Given the description of an element on the screen output the (x, y) to click on. 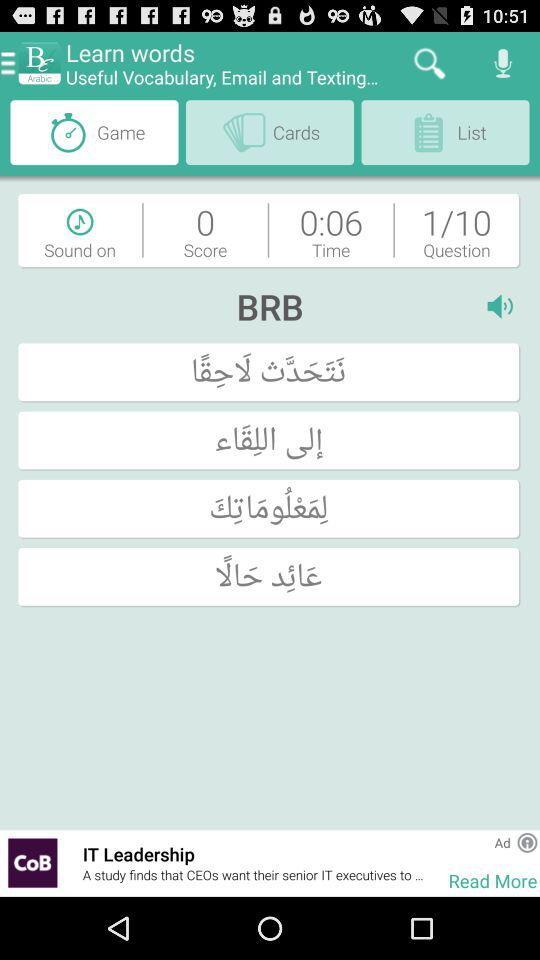
jump until the it leadership item (255, 853)
